Given the description of an element on the screen output the (x, y) to click on. 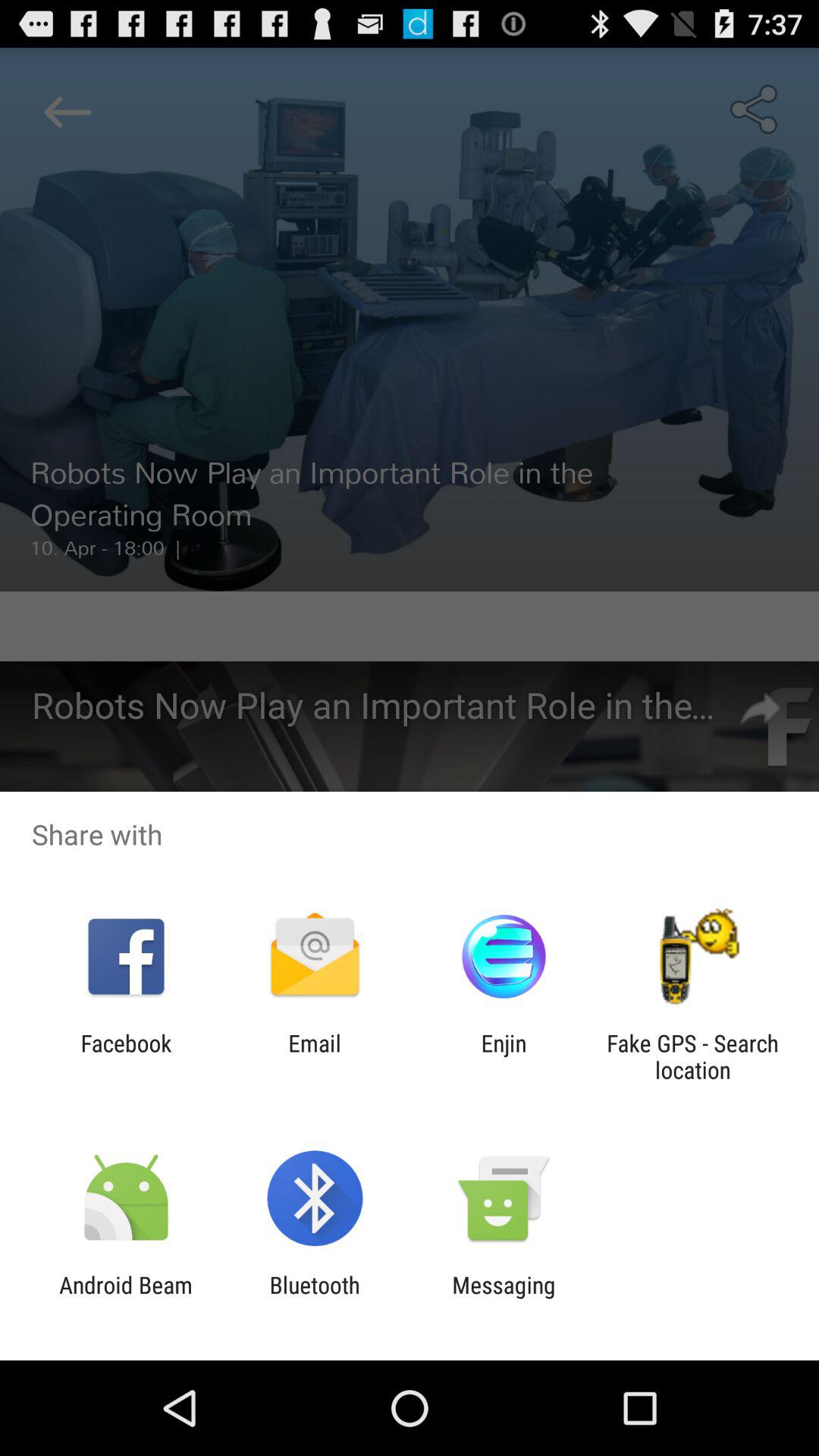
turn off item next to android beam icon (314, 1298)
